Given the description of an element on the screen output the (x, y) to click on. 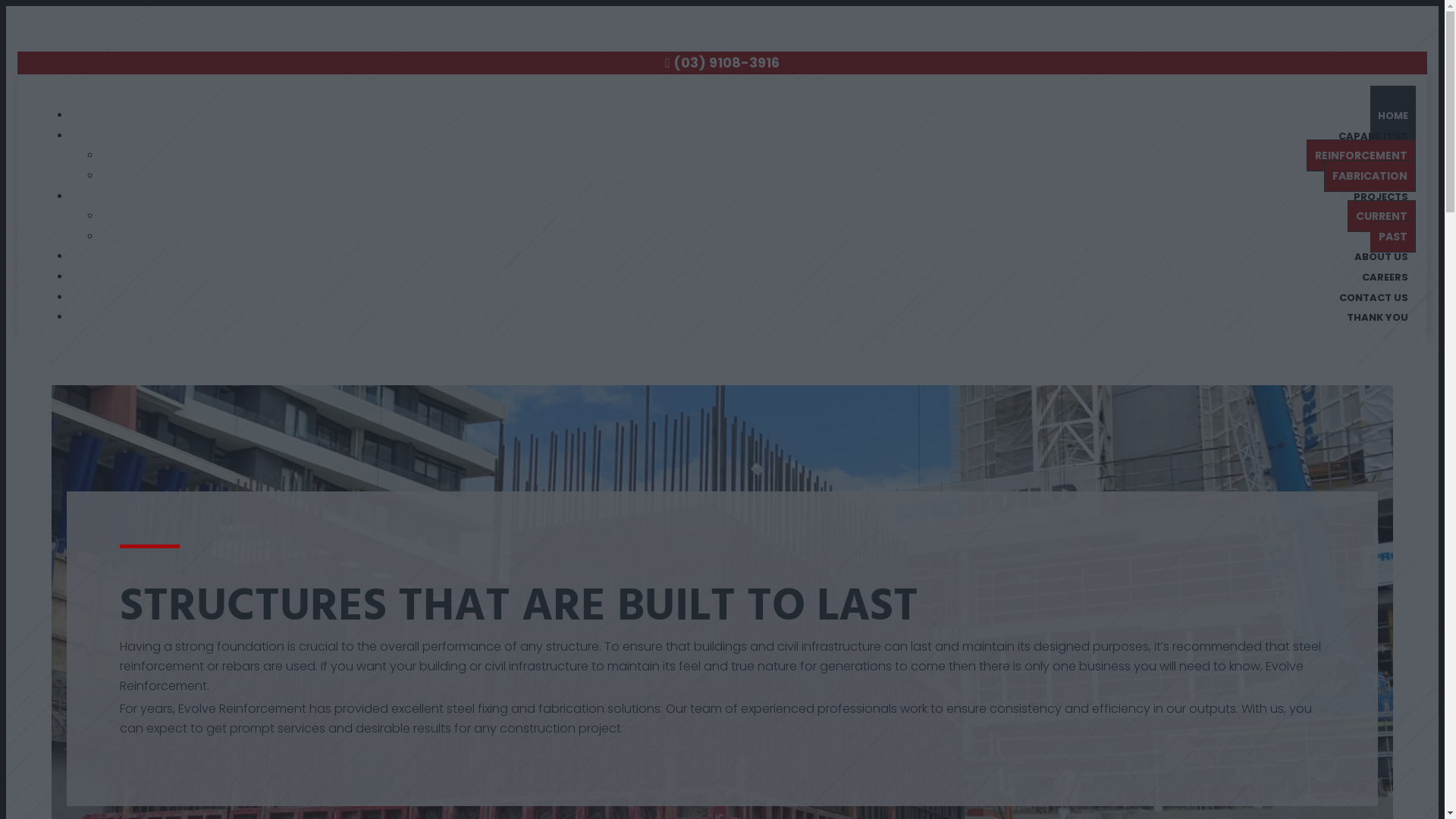
CAREERS Element type: text (1384, 277)
FABRICATION Element type: text (1369, 175)
THANK YOU Element type: text (1377, 317)
ABOUT US Element type: text (1380, 256)
CAPABILITIES Element type: text (1372, 136)
CONTACT US Element type: text (1373, 297)
REINFORCEMENT Element type: text (1360, 155)
HOME Element type: text (1392, 115)
(03) 9108-3916 Element type: text (726, 62)
PROJECTS Element type: text (1380, 196)
CURRENT Element type: text (1381, 216)
PAST Element type: text (1392, 236)
